Given the description of an element on the screen output the (x, y) to click on. 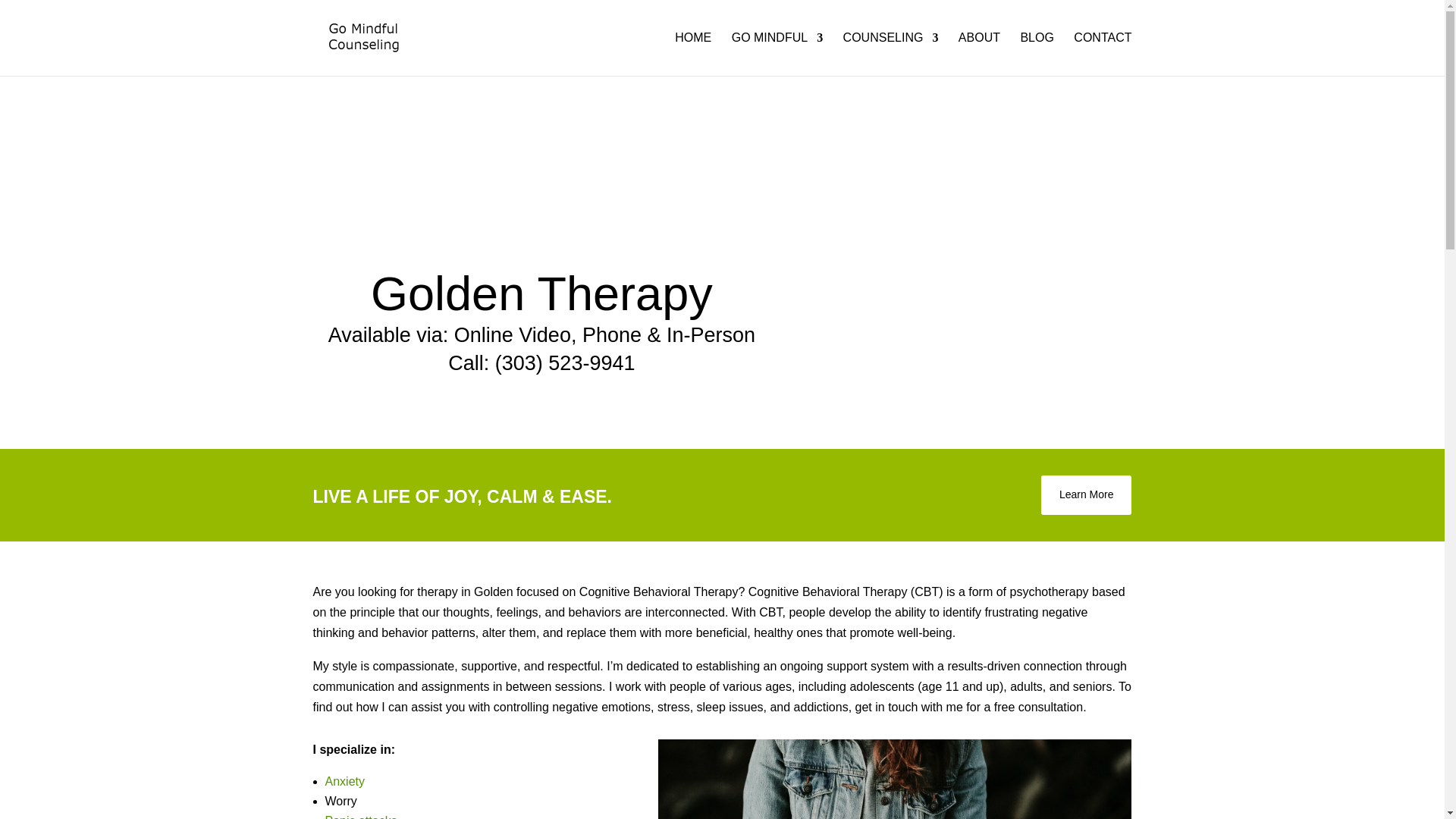
priscilla-du-preez-F9DFuJoS9EU-unsplash (894, 779)
CONTACT (1102, 54)
Anxiety (344, 780)
Panic attacks (360, 816)
Learn More (1086, 495)
GO MINDFUL (777, 54)
ABOUT (979, 54)
COUNSELING (891, 54)
